Given the description of an element on the screen output the (x, y) to click on. 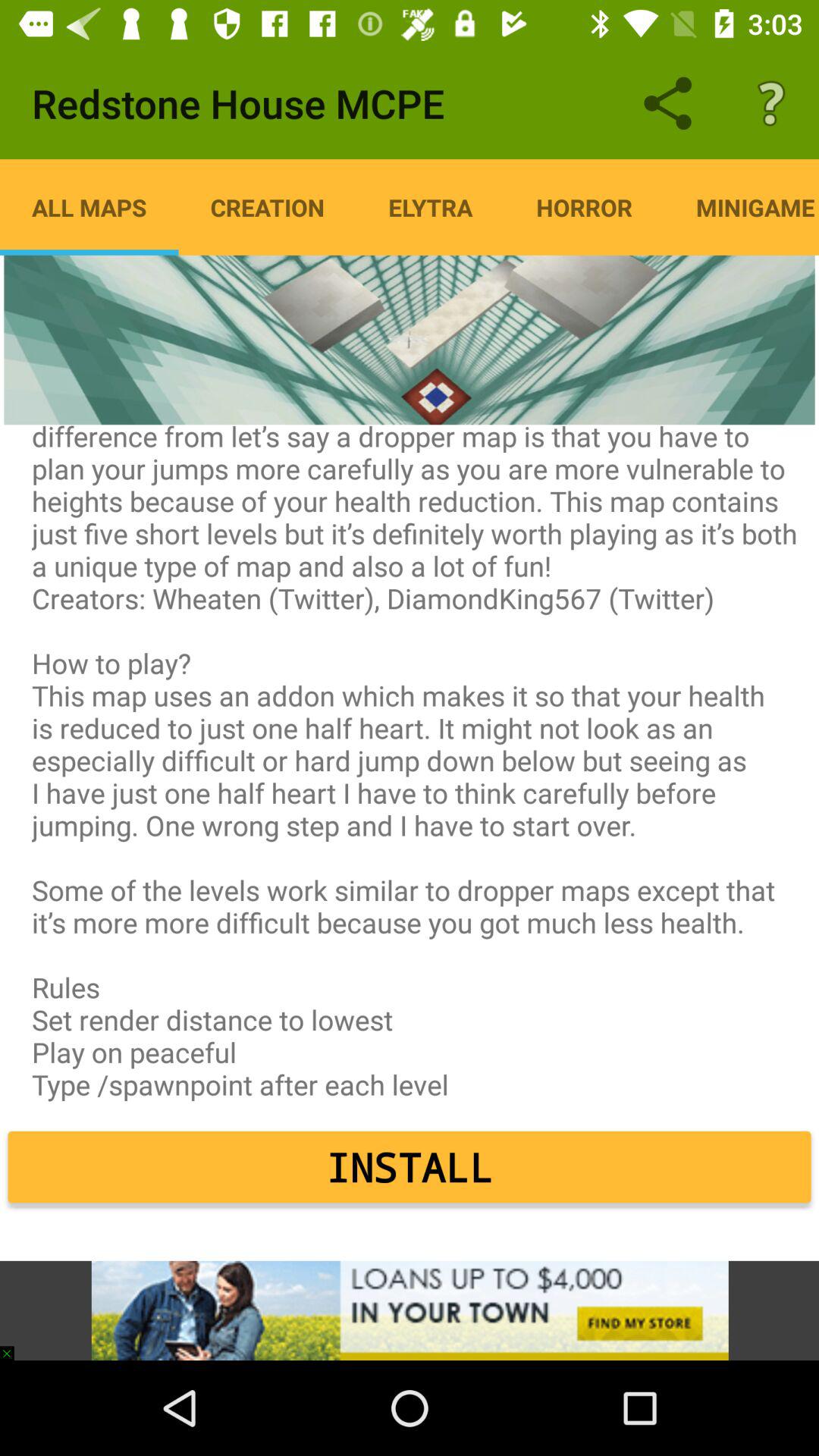
click the item next to horror icon (430, 207)
